Given the description of an element on the screen output the (x, y) to click on. 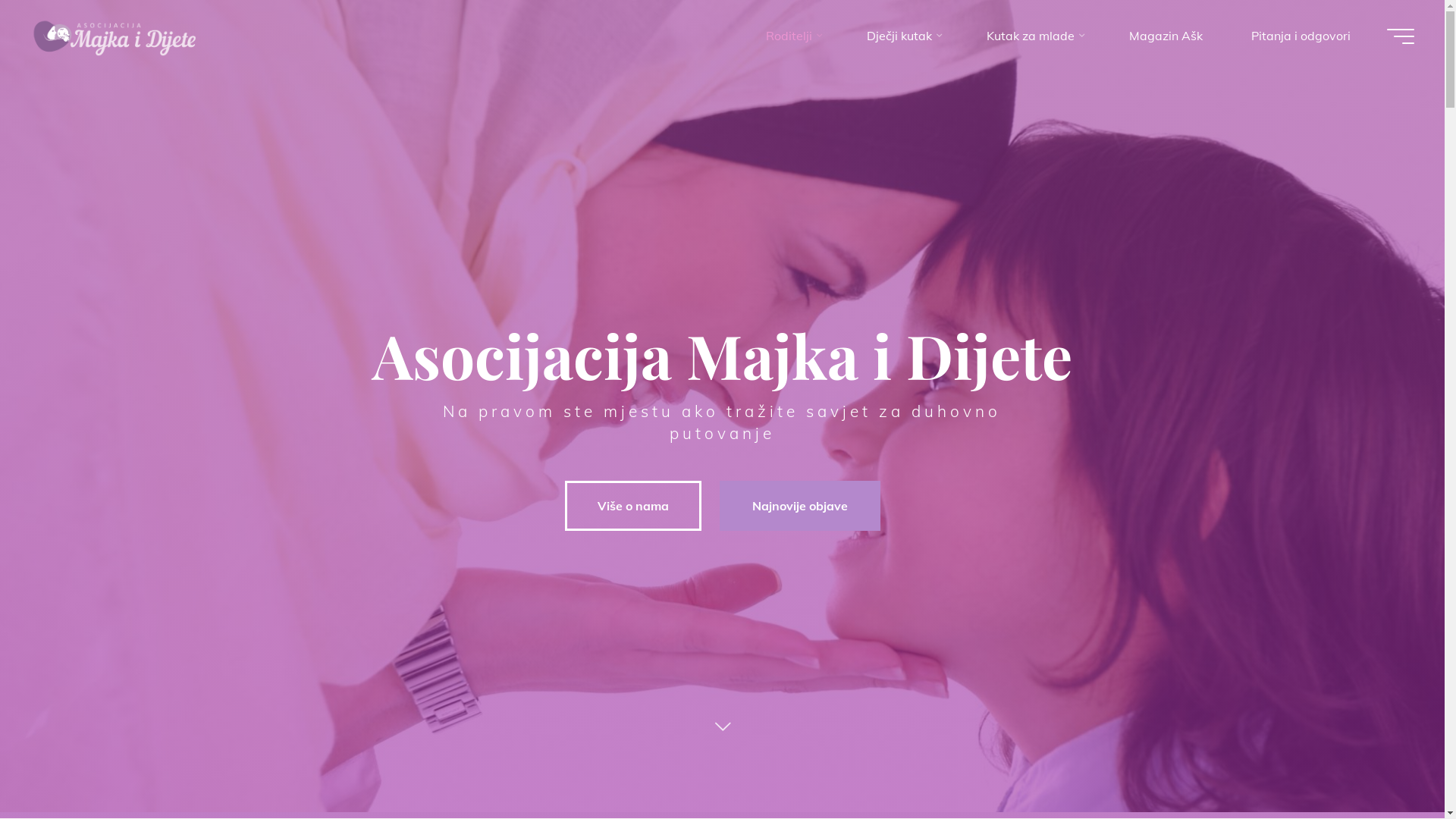
Kutak za mlade Element type: text (1033, 35)
Roditelji Element type: text (791, 35)
Pitanja i odgovori Element type: text (1300, 35)
Asocijacija Majka i Dijete Element type: hover (115, 35)
Najnovije objave Element type: text (798, 505)
Read more Element type: hover (721, 725)
